Given the description of an element on the screen output the (x, y) to click on. 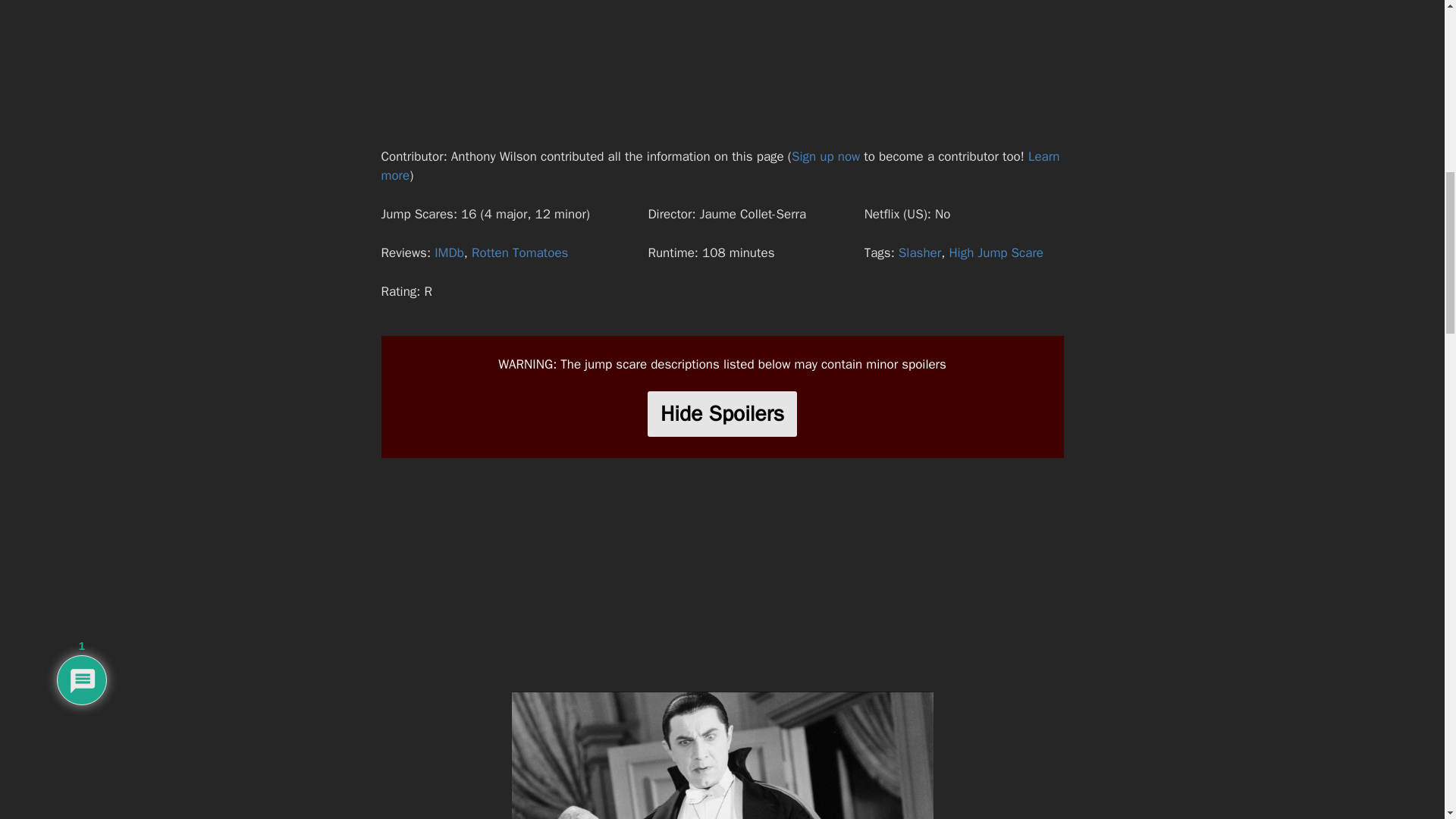
High Jump Scare (996, 252)
YouTube video player (722, 65)
Sign up now (826, 156)
IMDb (448, 252)
Hide Spoilers (721, 413)
Rotten Tomatoes (519, 252)
Learn more (719, 166)
Slasher (919, 252)
